Given the description of an element on the screen output the (x, y) to click on. 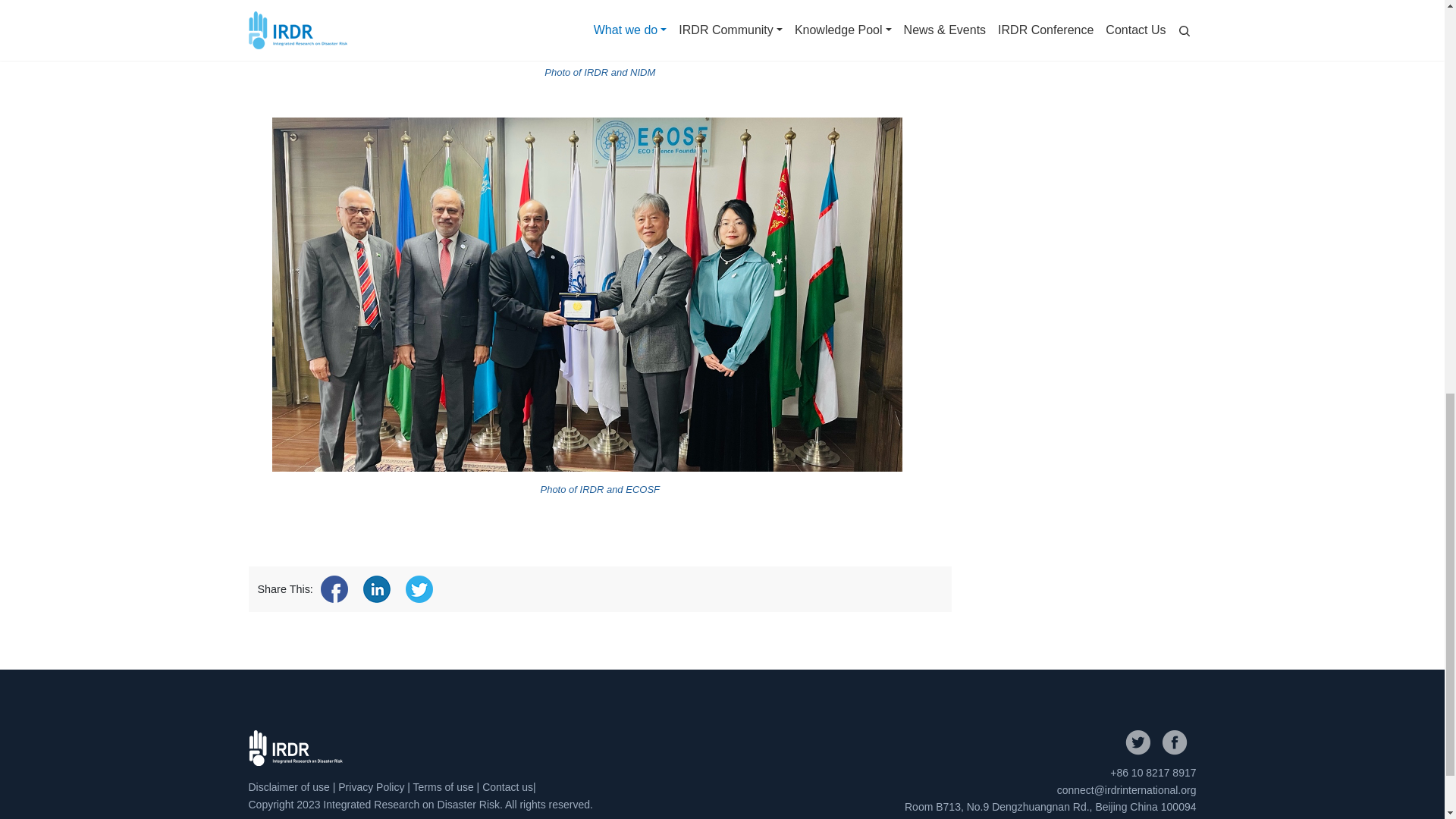
Share this page on Facebook (333, 588)
Share this page on LinkedIn (376, 588)
Share this page on Twitter (419, 588)
